Given the description of an element on the screen output the (x, y) to click on. 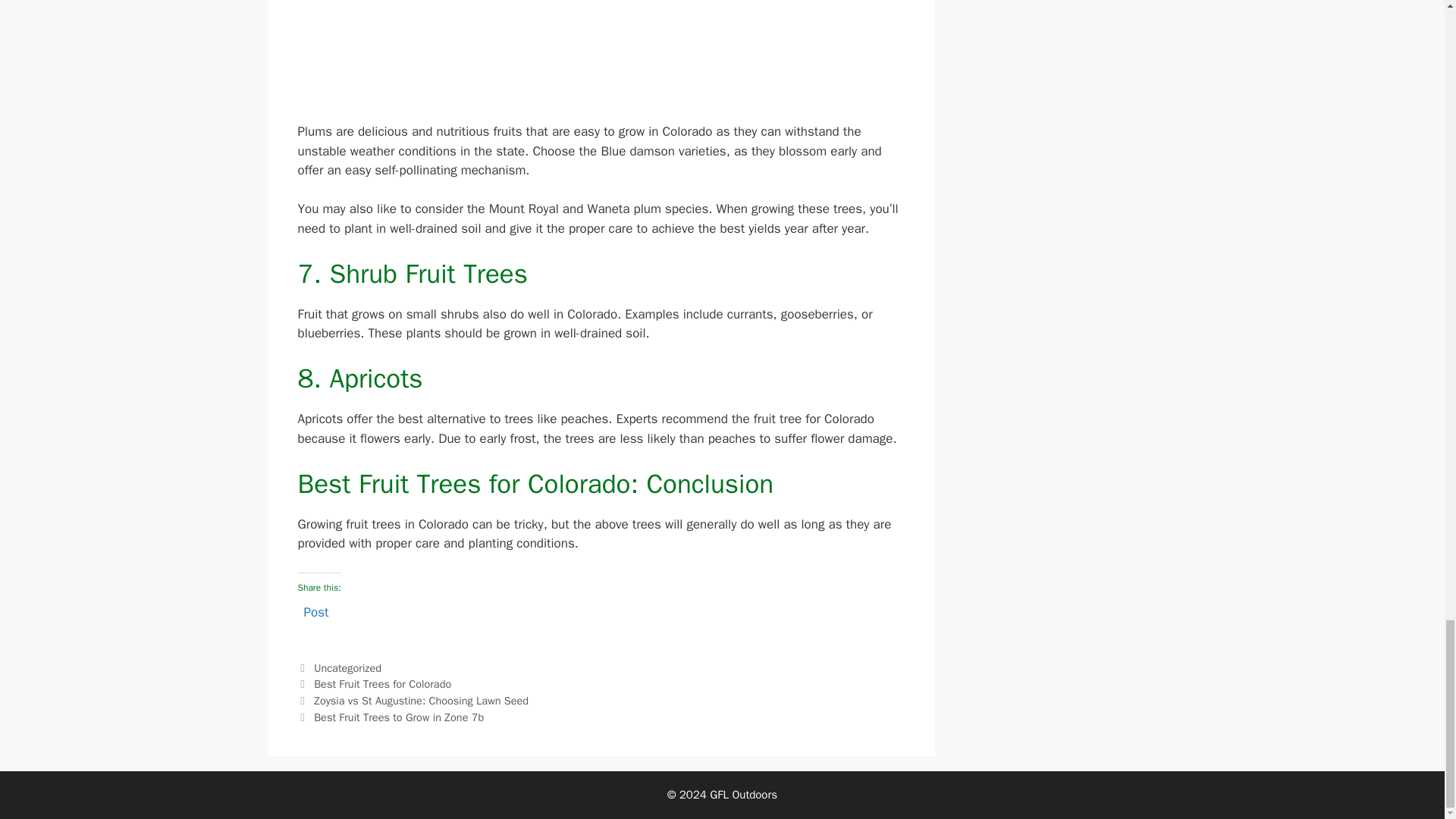
Post (315, 609)
Best Fruit Trees to Grow in Zone 7b (398, 716)
Zoysia vs St Augustine: Choosing Lawn Seed (421, 700)
Uncategorized (347, 667)
Best Fruit Trees for Colorado (382, 684)
